Given the description of an element on the screen output the (x, y) to click on. 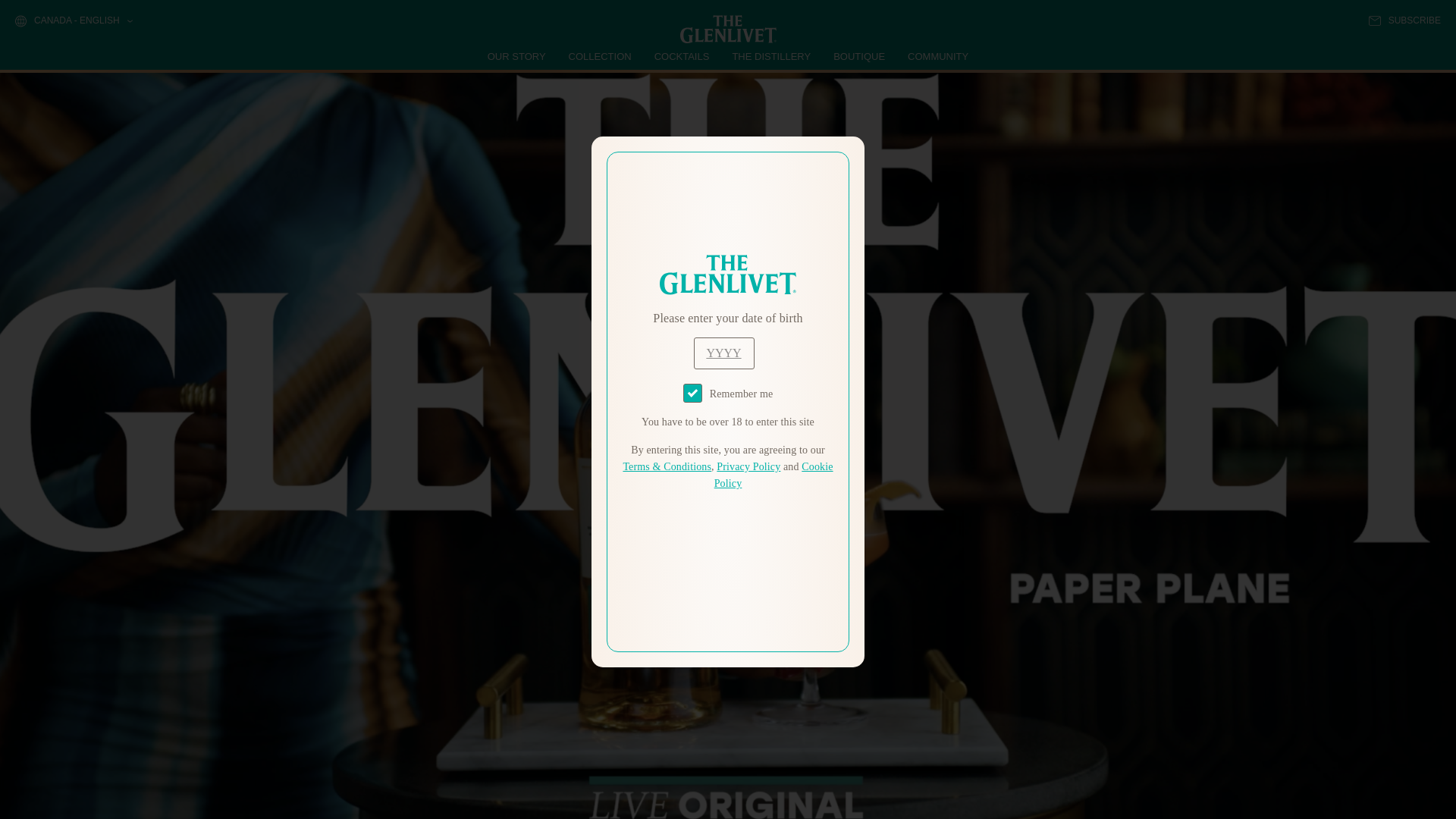
COLLECTION (600, 56)
COMMUNITY (937, 56)
CANADA - ENGLISH (73, 21)
SUBSCRIBE (1404, 20)
Cookie Policy (773, 474)
BOUTIQUE (858, 56)
Privacy Policy (748, 466)
year (723, 353)
THE DISTILLERY (771, 56)
COCKTAILS (681, 56)
OUR STORY (516, 56)
